Given the description of an element on the screen output the (x, y) to click on. 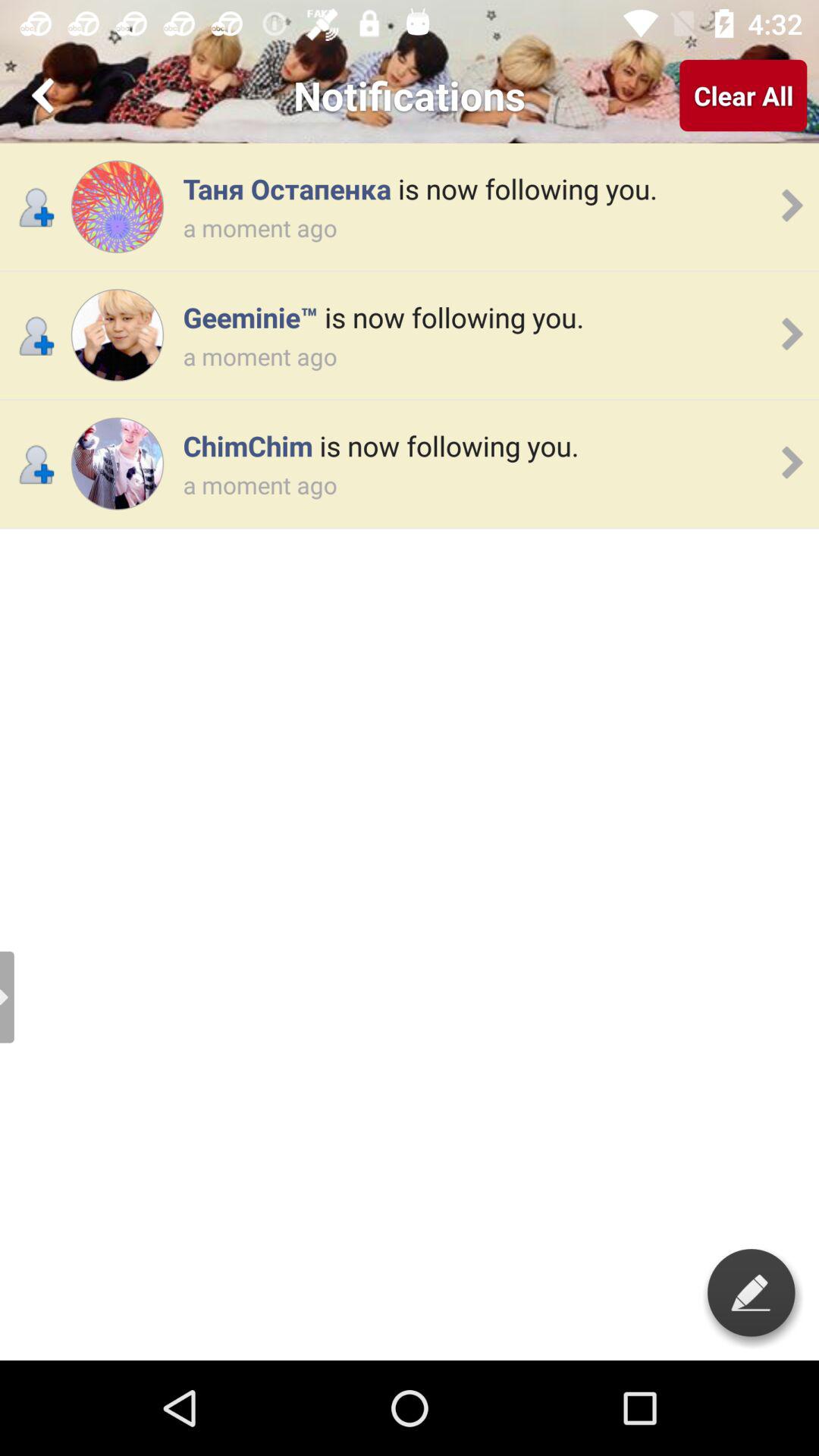
click on the favorites (45, 95)
